Given the description of an element on the screen output the (x, y) to click on. 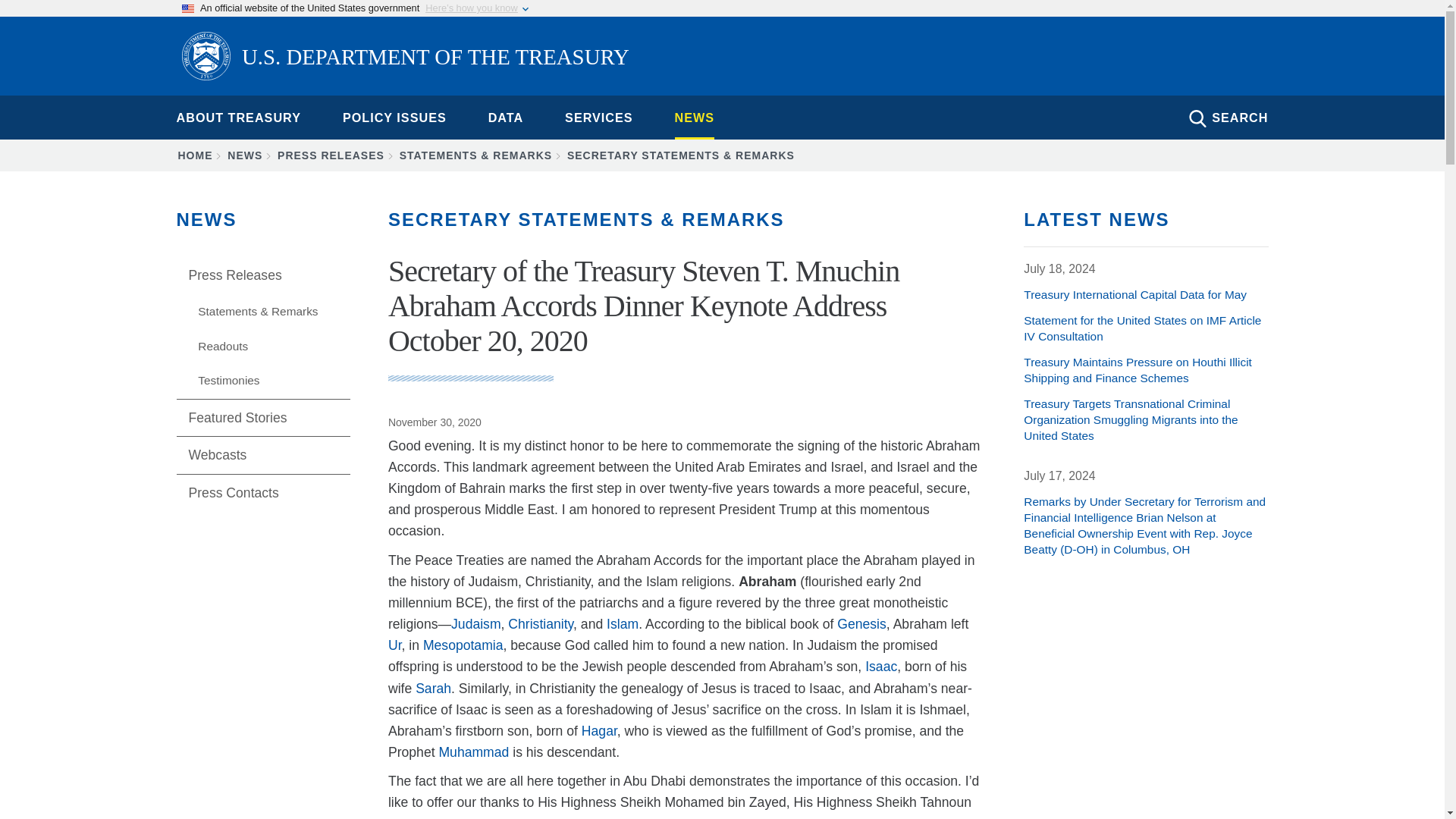
Home (405, 58)
ABOUT TREASURY (238, 117)
U.S. DEPARTMENT OF THE TREASURY (405, 58)
